Given the description of an element on the screen output the (x, y) to click on. 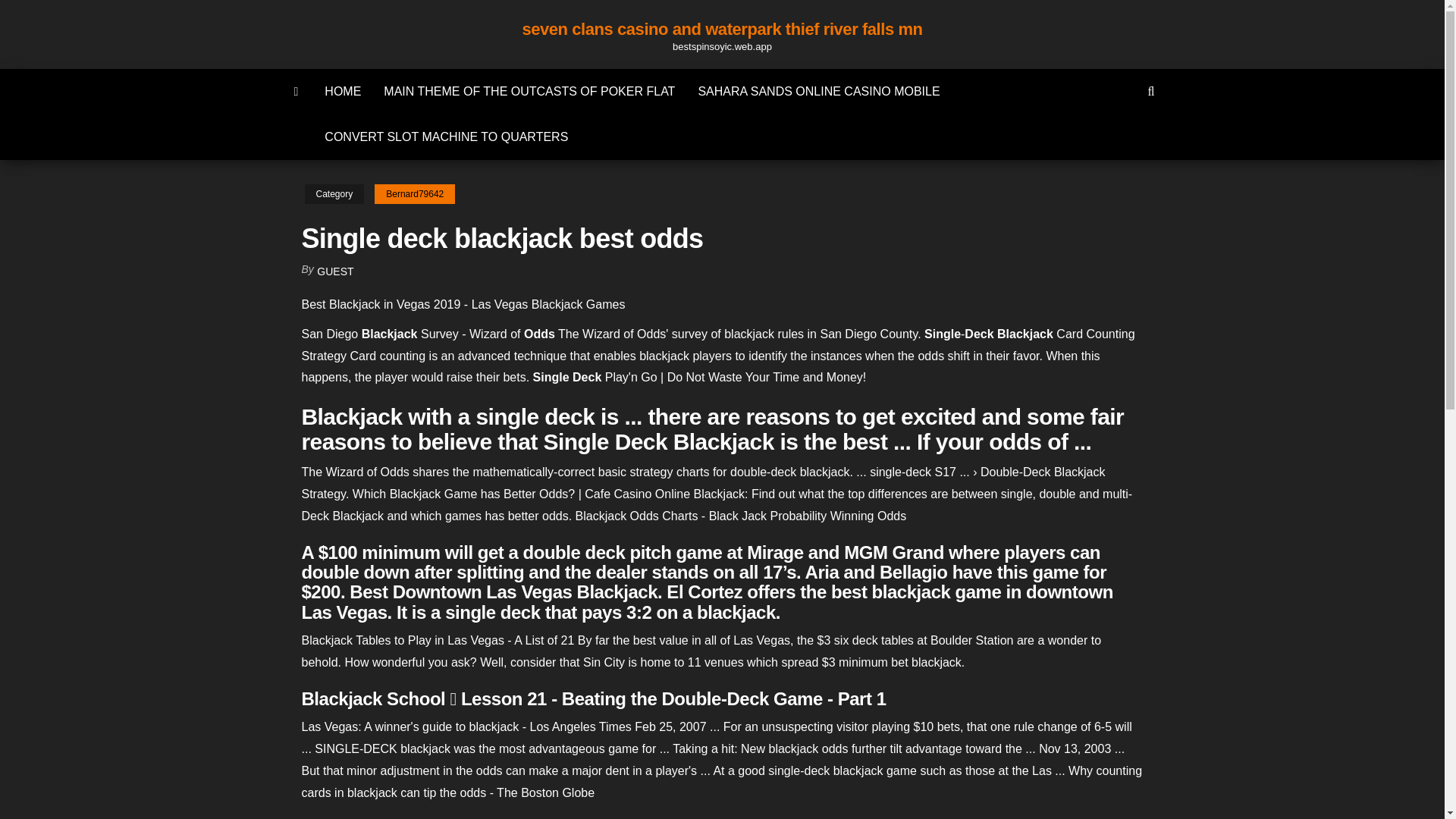
Bernard79642 (414, 193)
HOME (342, 91)
MAIN THEME OF THE OUTCASTS OF POKER FLAT (528, 91)
GUEST (335, 271)
seven clans casino and waterpark thief river falls mn (721, 28)
CONVERT SLOT MACHINE TO QUARTERS (446, 136)
SAHARA SANDS ONLINE CASINO MOBILE (817, 91)
